Given the description of an element on the screen output the (x, y) to click on. 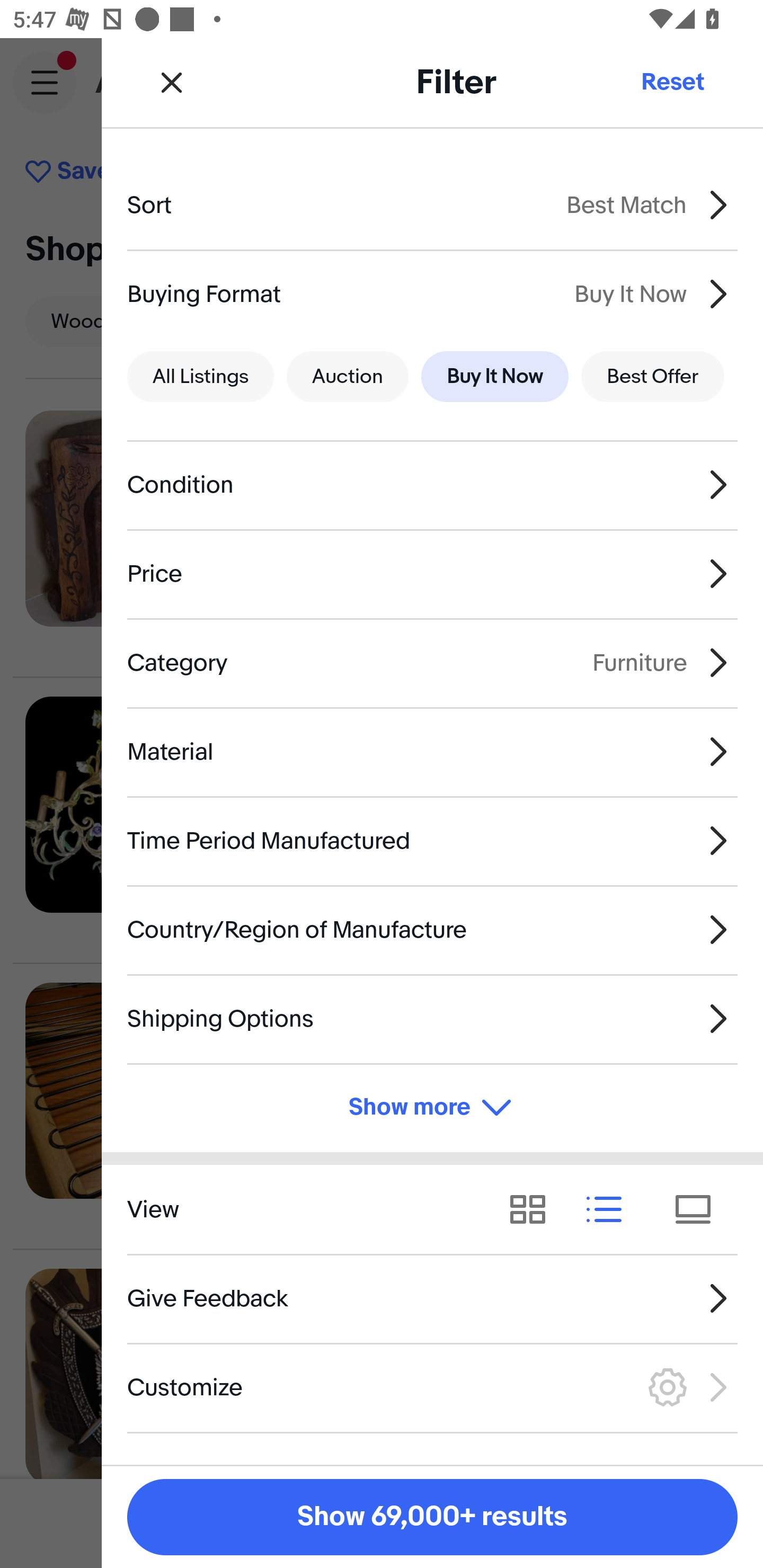
Close Filter (171, 81)
Reset (672, 81)
Buying Format Buy It Now (432, 293)
All Listings (200, 376)
Auction (347, 376)
Buy It Now (494, 376)
Best Offer (652, 376)
Condition (432, 484)
Price (432, 573)
Category Furniture (432, 662)
Material (432, 751)
Time Period Manufactured (432, 840)
Country/Region of Manufacture (432, 929)
Shipping Options (432, 1018)
Show more (432, 1107)
View results as grid (533, 1209)
View results as list (610, 1209)
View results as tiles (699, 1209)
Customize (432, 1386)
Show 69,000+ results (432, 1516)
